Given the description of an element on the screen output the (x, y) to click on. 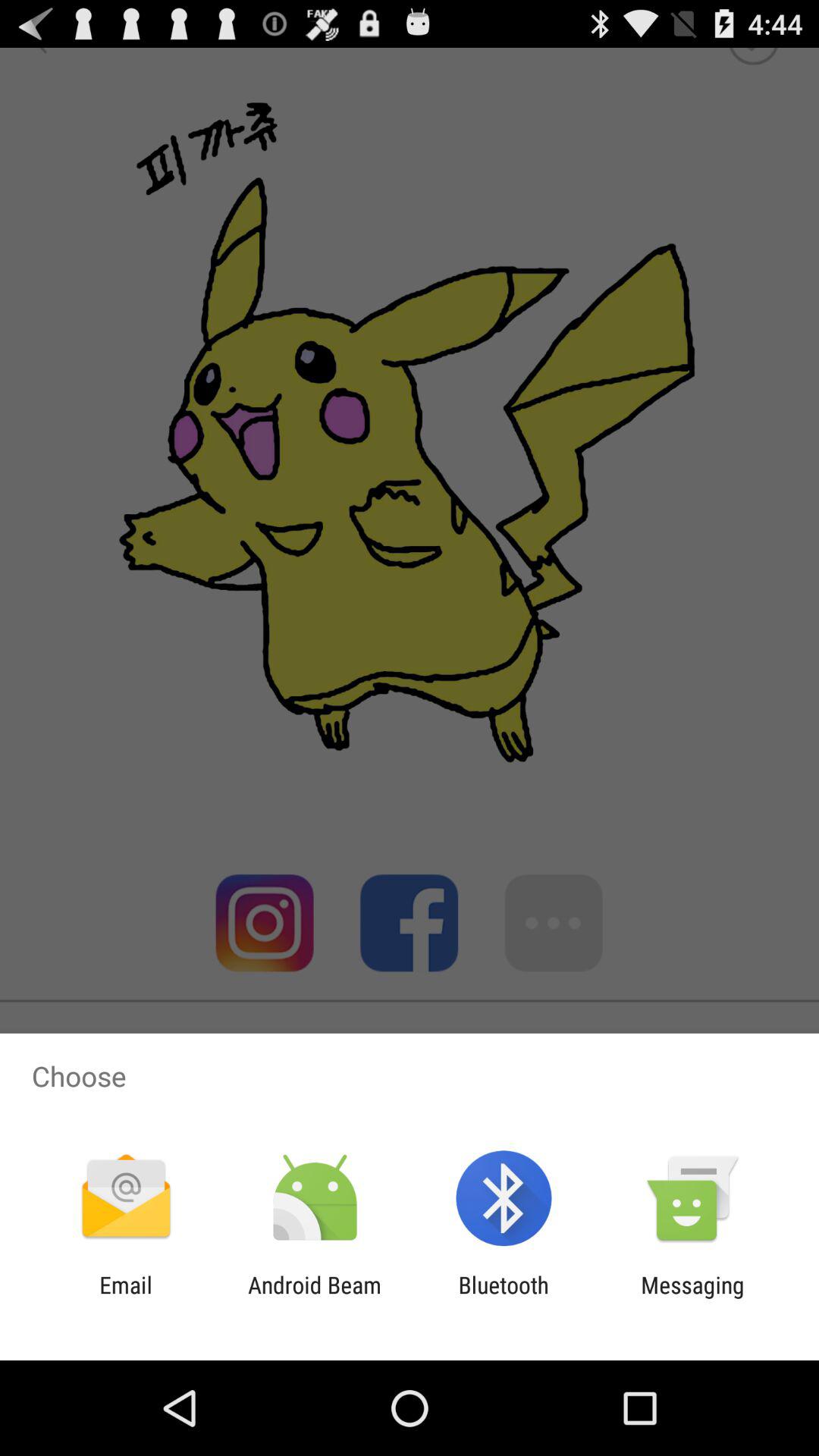
choose the app next to the email app (314, 1298)
